Given the description of an element on the screen output the (x, y) to click on. 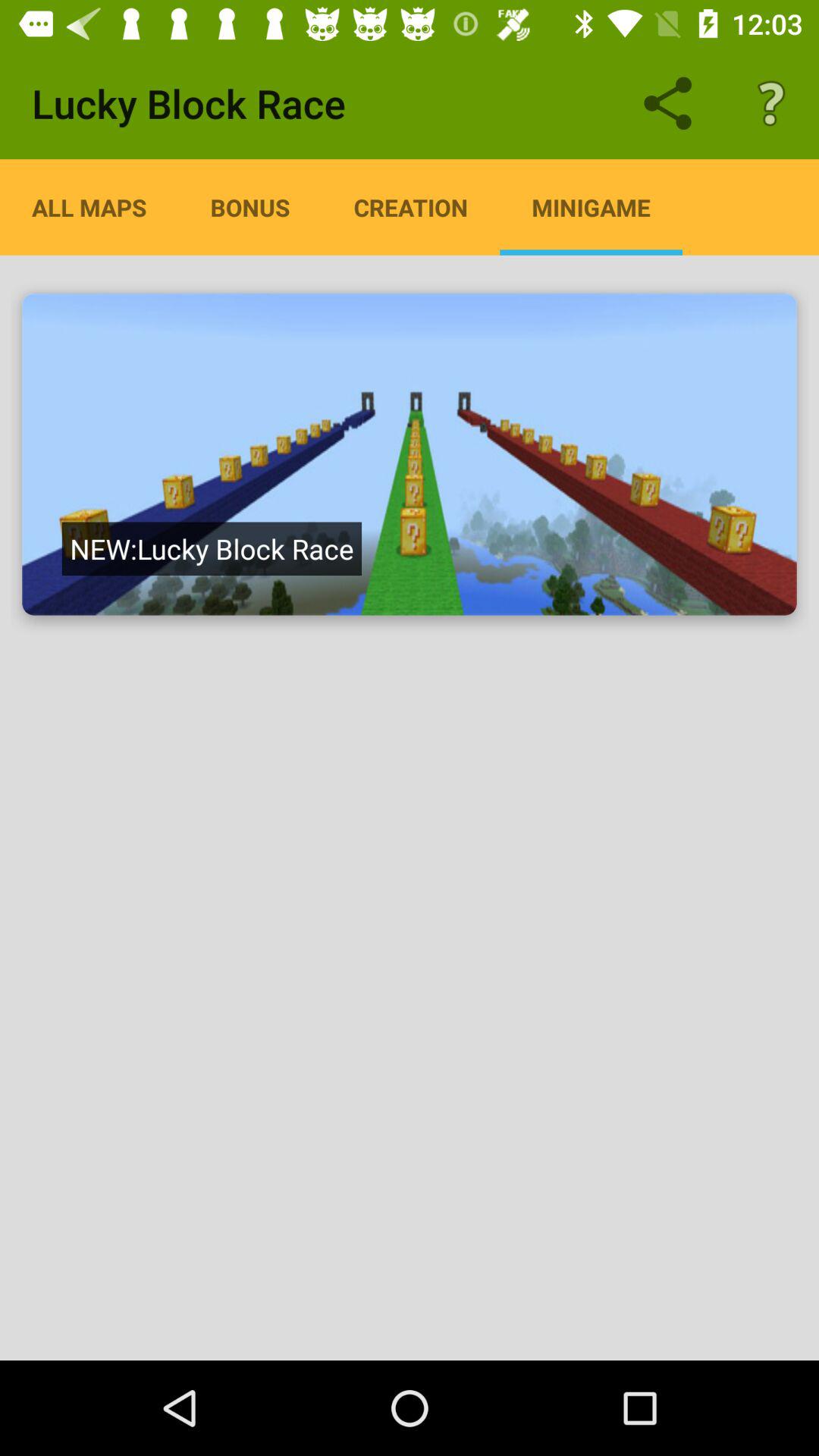
swipe until the bonus item (249, 207)
